Given the description of an element on the screen output the (x, y) to click on. 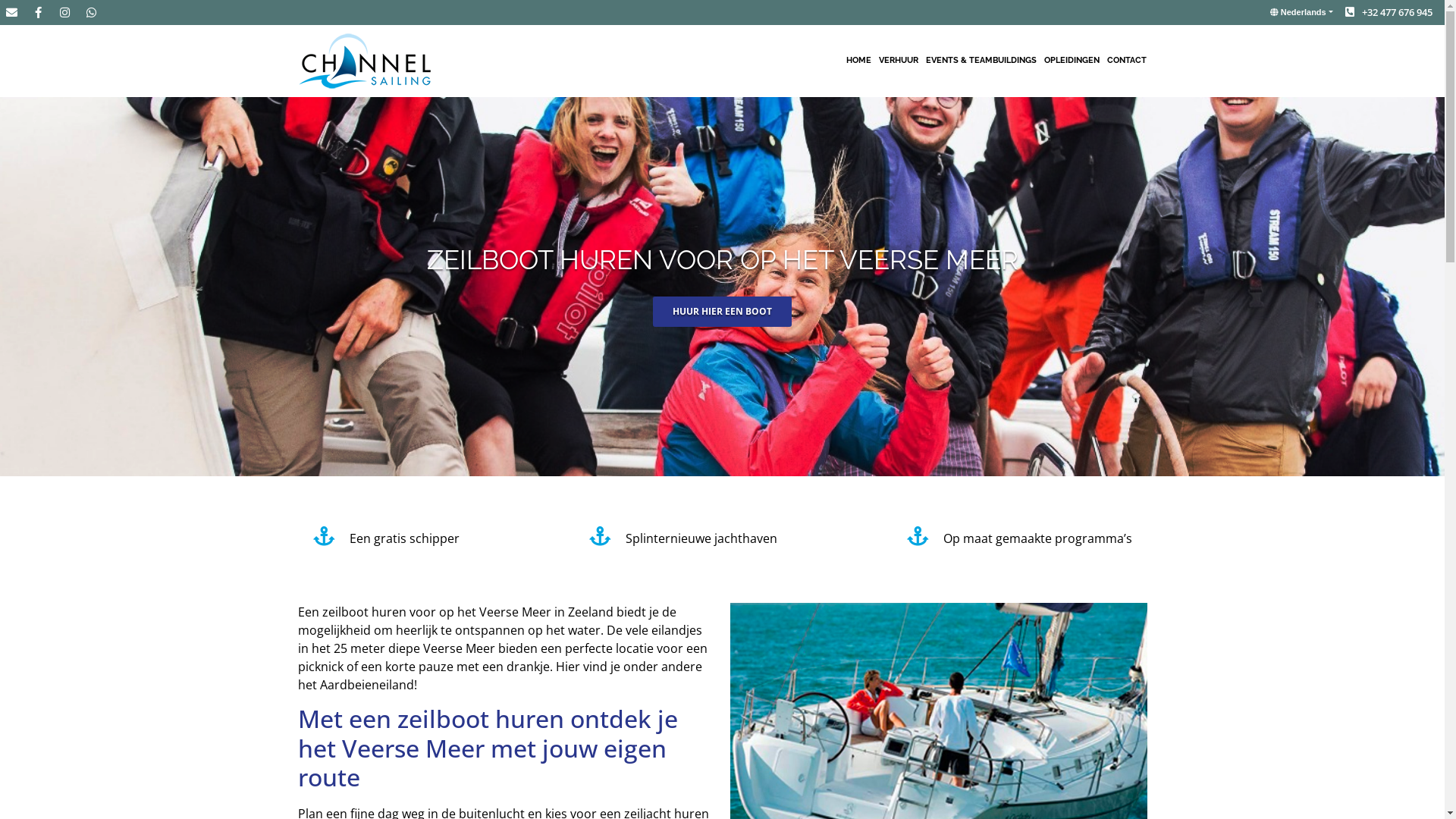
OPLEIDINGEN Element type: text (1071, 60)
ZEILBOOT HUREN VOOR OP HET VEERSE MEER
HUUR HIER EEN BOOT Element type: text (722, 286)
EVENTS & TEAMBUILDINGS Element type: text (980, 60)
CONTACT Element type: text (1126, 60)
HOME Element type: text (858, 60)
Nederlands Element type: text (1301, 11)
+32 477 676 945 Element type: text (1389, 12)
VERHUUR Element type: text (898, 60)
